Given the description of an element on the screen output the (x, y) to click on. 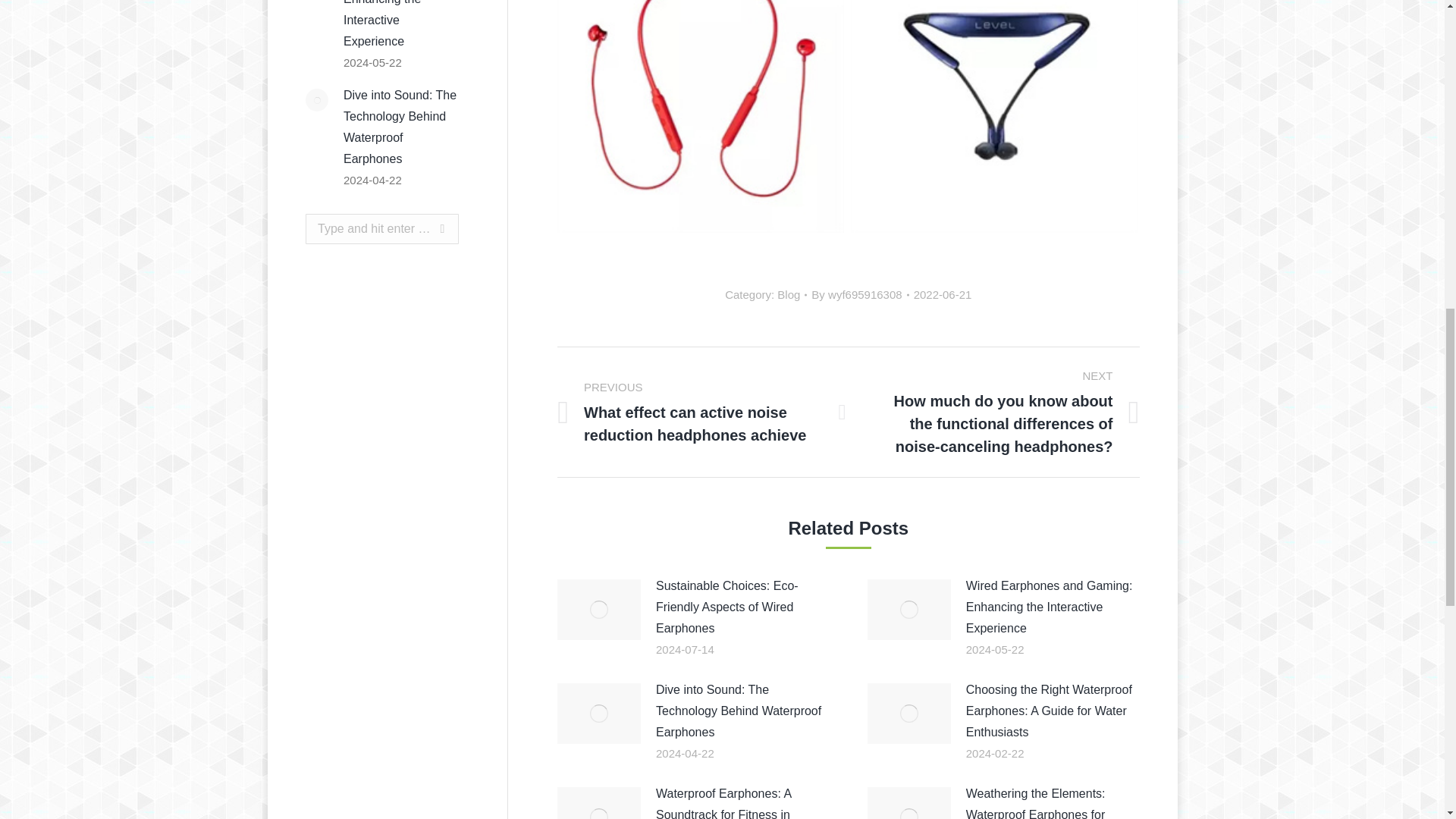
View all posts by wyf695916308 (859, 294)
Go! (428, 228)
11:54 (943, 294)
Go! (428, 228)
